Given the description of an element on the screen output the (x, y) to click on. 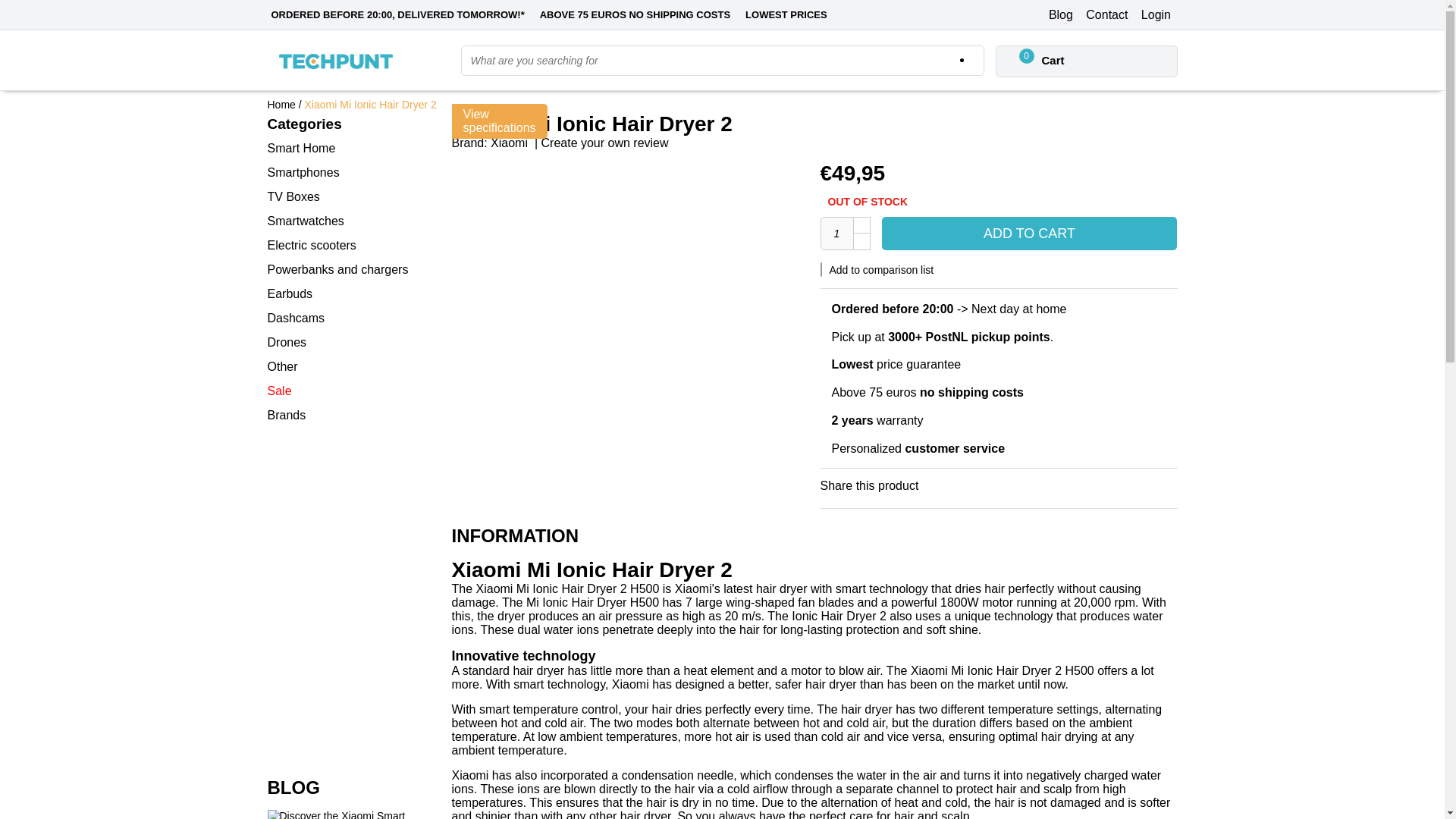
Blog (1060, 14)
1 (837, 233)
